Given the description of an element on the screen output the (x, y) to click on. 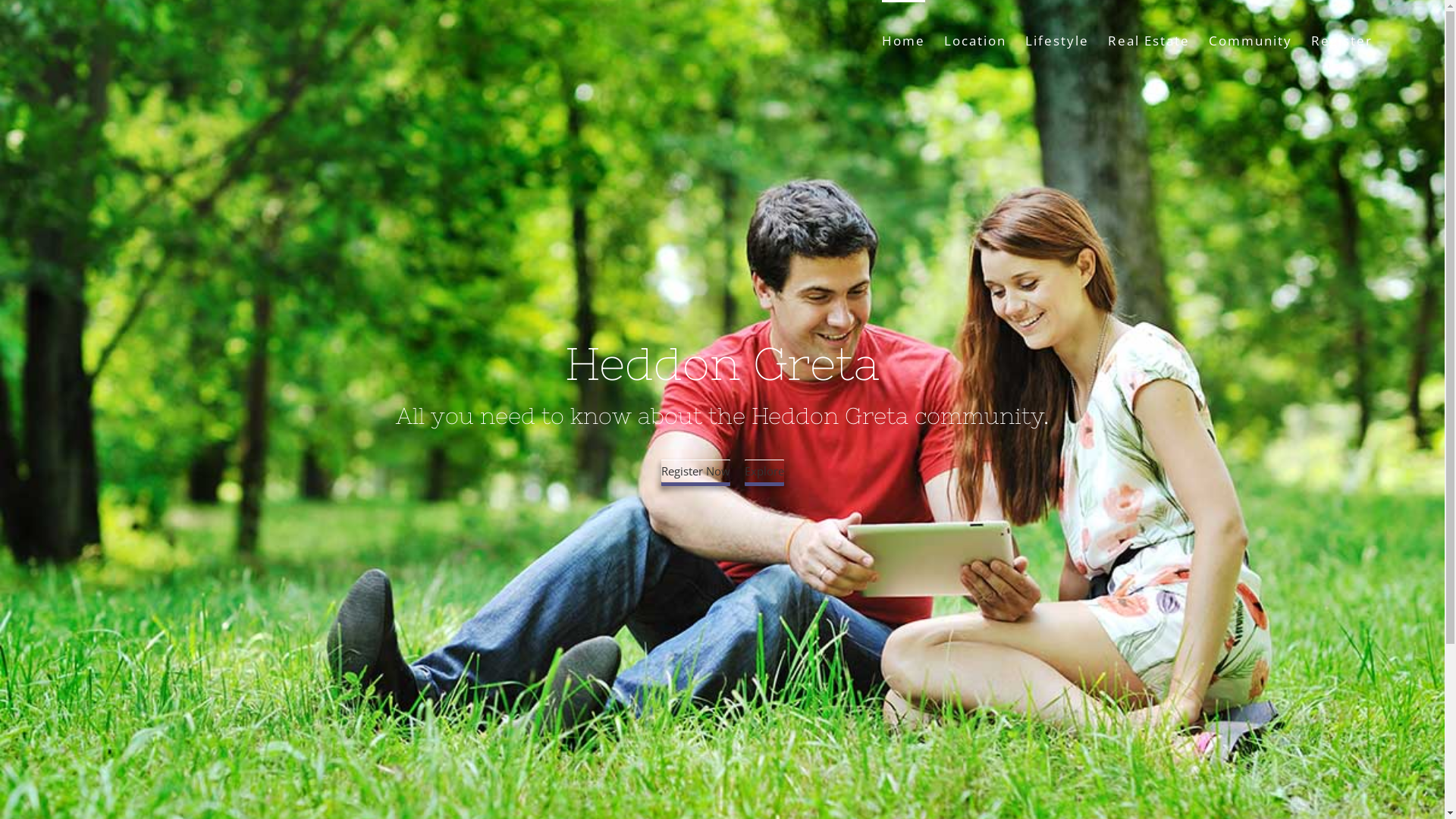
Explore Element type: text (764, 470)
Register Element type: text (1341, 39)
Lifestyle Element type: text (1056, 39)
Real Estate Element type: text (1148, 39)
Community Element type: text (1250, 39)
Location Element type: text (975, 39)
Register Now Element type: text (695, 470)
Home Element type: text (903, 39)
